Given the description of an element on the screen output the (x, y) to click on. 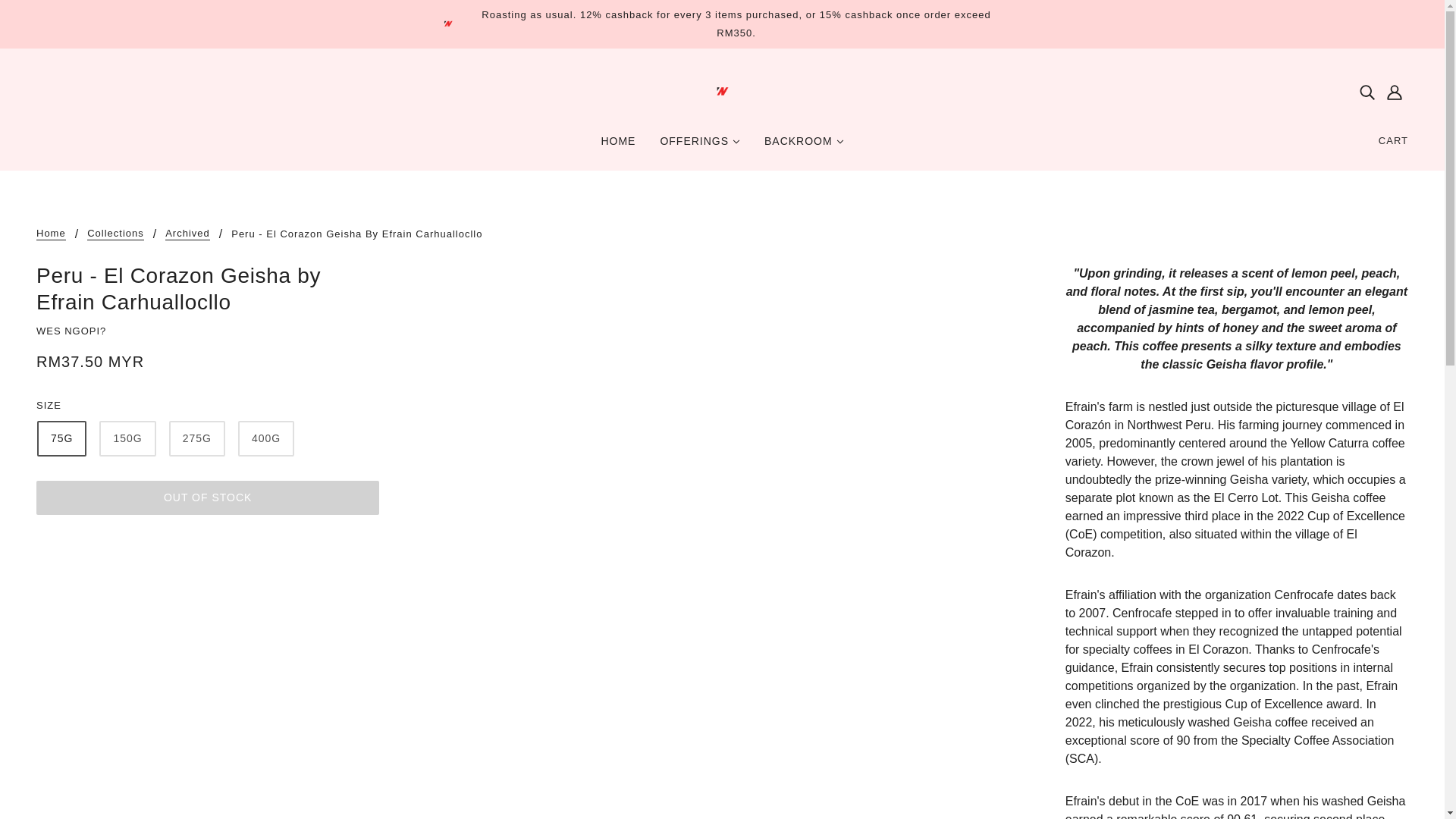
OFFERINGS (699, 146)
BACKROOM (804, 146)
HOME (617, 146)
Collections (115, 234)
Archived (187, 234)
OUT OF STOCK (207, 497)
Wes Ngopi? (722, 91)
CART (1394, 140)
WES NGOPI? (71, 330)
Home (50, 234)
